Given the description of an element on the screen output the (x, y) to click on. 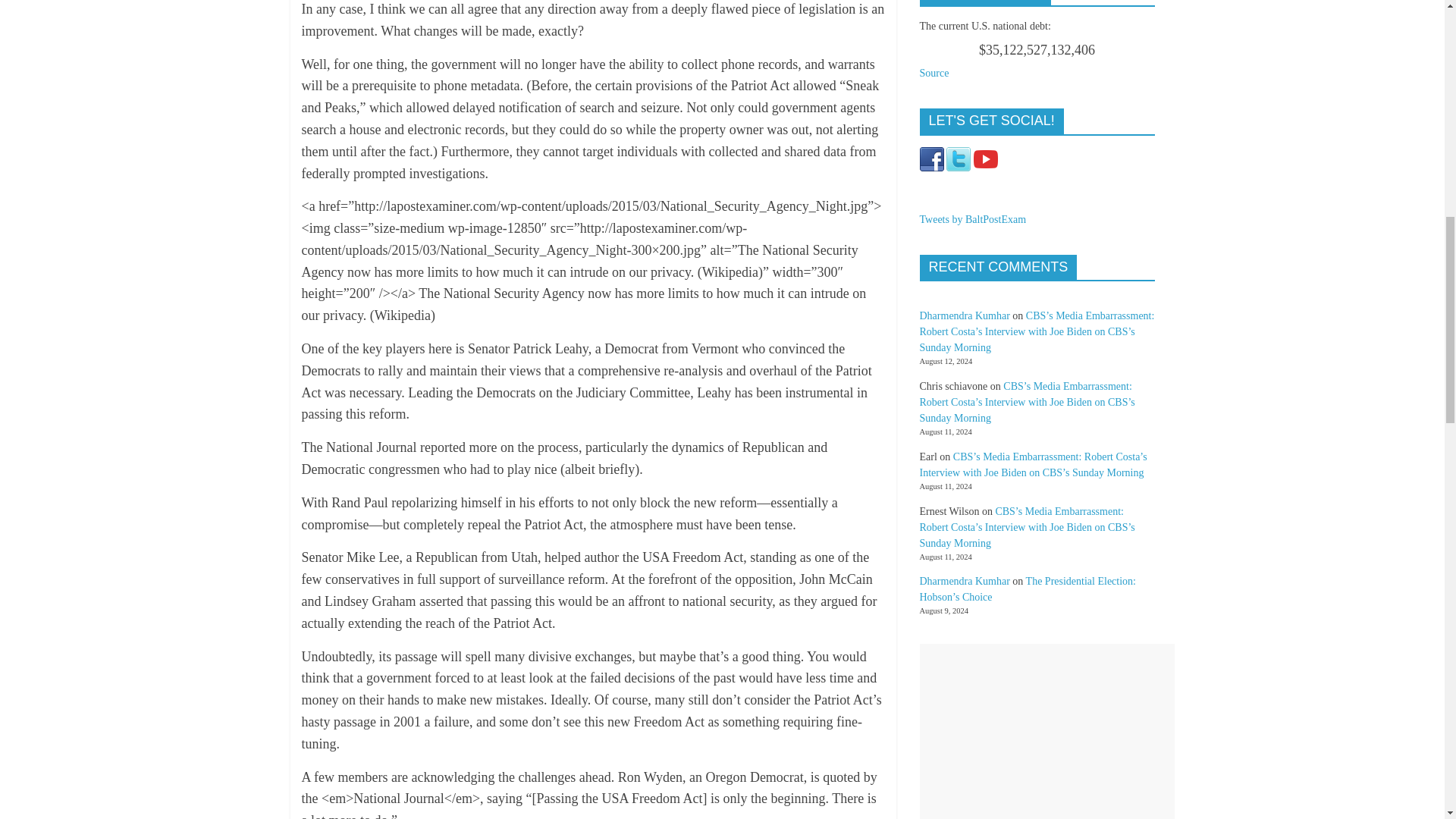
Dharmendra Kumhar (963, 315)
Source (933, 72)
Tweets by BaltPostExam (972, 219)
